Given the description of an element on the screen output the (x, y) to click on. 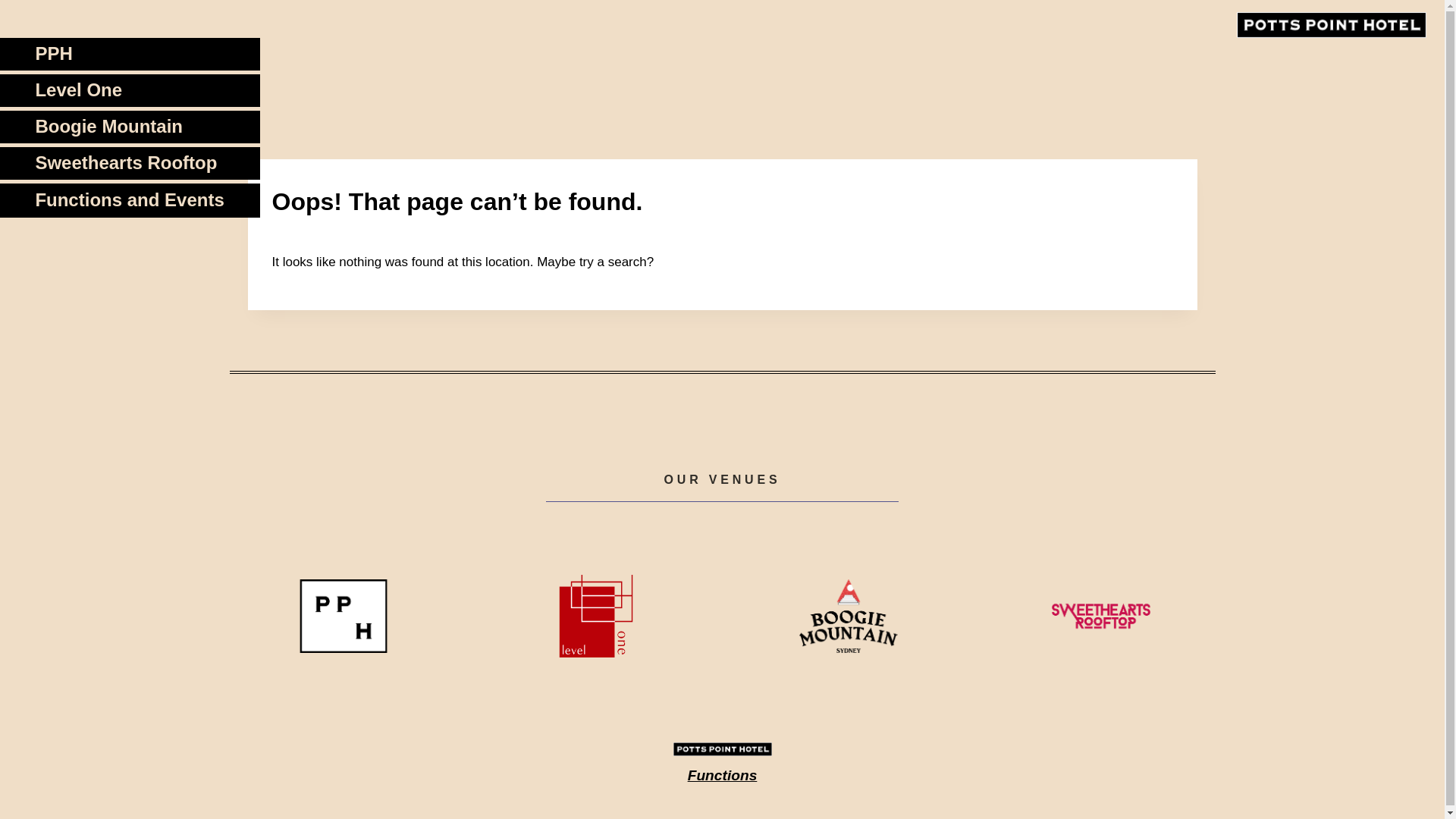
Functions Element type: text (722, 769)
Boogie Mountain Element type: text (154, 126)
Sweethearts Rooftop Element type: text (154, 163)
PPH Element type: text (154, 53)
Functions and Events Element type: text (153, 200)
Level One Element type: text (154, 90)
